Given the description of an element on the screen output the (x, y) to click on. 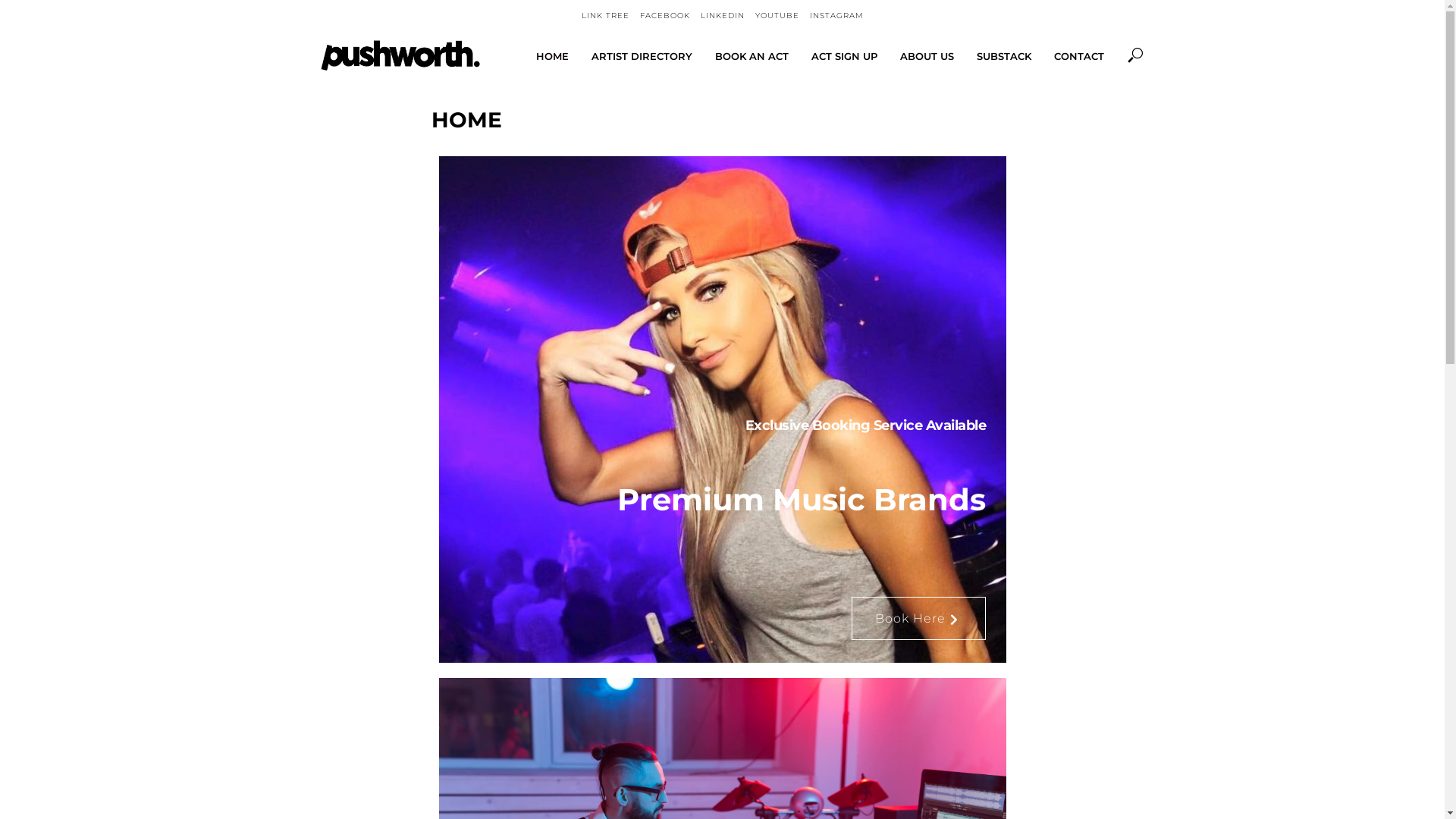
ACT SIGN UP Element type: text (843, 55)
LINK TREE Element type: text (604, 15)
LINKEDIN Element type: text (722, 15)
CONTACT Element type: text (1077, 55)
ARTIST DIRECTORY Element type: text (640, 55)
Premium Music Brands Element type: text (722, 499)
SUBSTACK Element type: text (1002, 55)
BOOK AN ACT Element type: text (751, 55)
Book Here Element type: text (917, 618)
ABOUT US Element type: text (926, 55)
HOME Element type: text (552, 55)
FACEBOOK Element type: text (665, 15)
YOUTUBE Element type: text (777, 15)
INSTAGRAM Element type: text (836, 15)
